Given the description of an element on the screen output the (x, y) to click on. 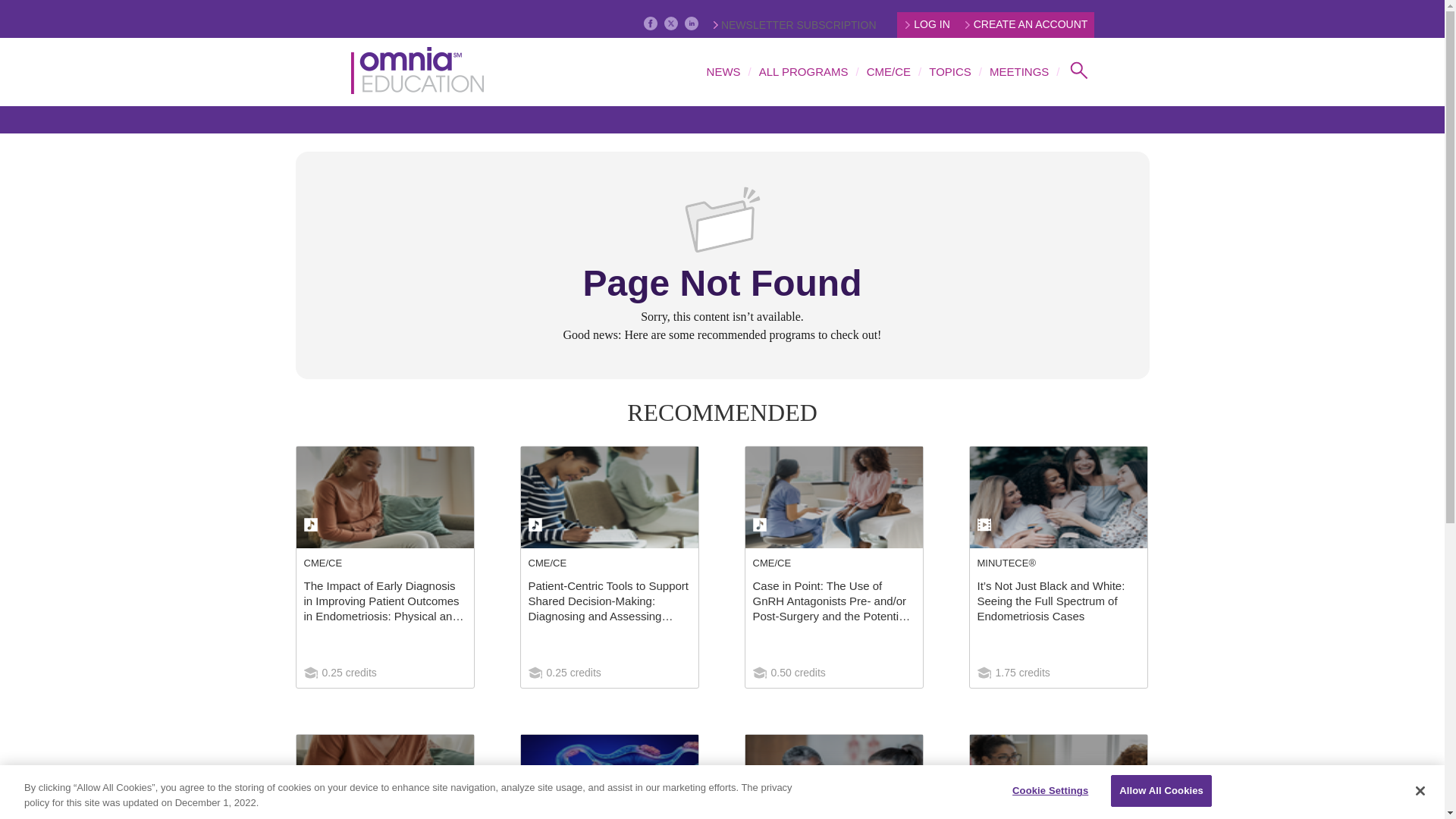
ALL PROGRAMS (803, 71)
NEWSLETTER SUBSCRIPTION (794, 24)
Twitter (670, 23)
LinkedIn (691, 23)
NEWS (723, 71)
Omnia Education (416, 71)
LOG IN (927, 24)
CREATE AN ACCOUNT (1026, 24)
TOPICS (949, 71)
